Given the description of an element on the screen output the (x, y) to click on. 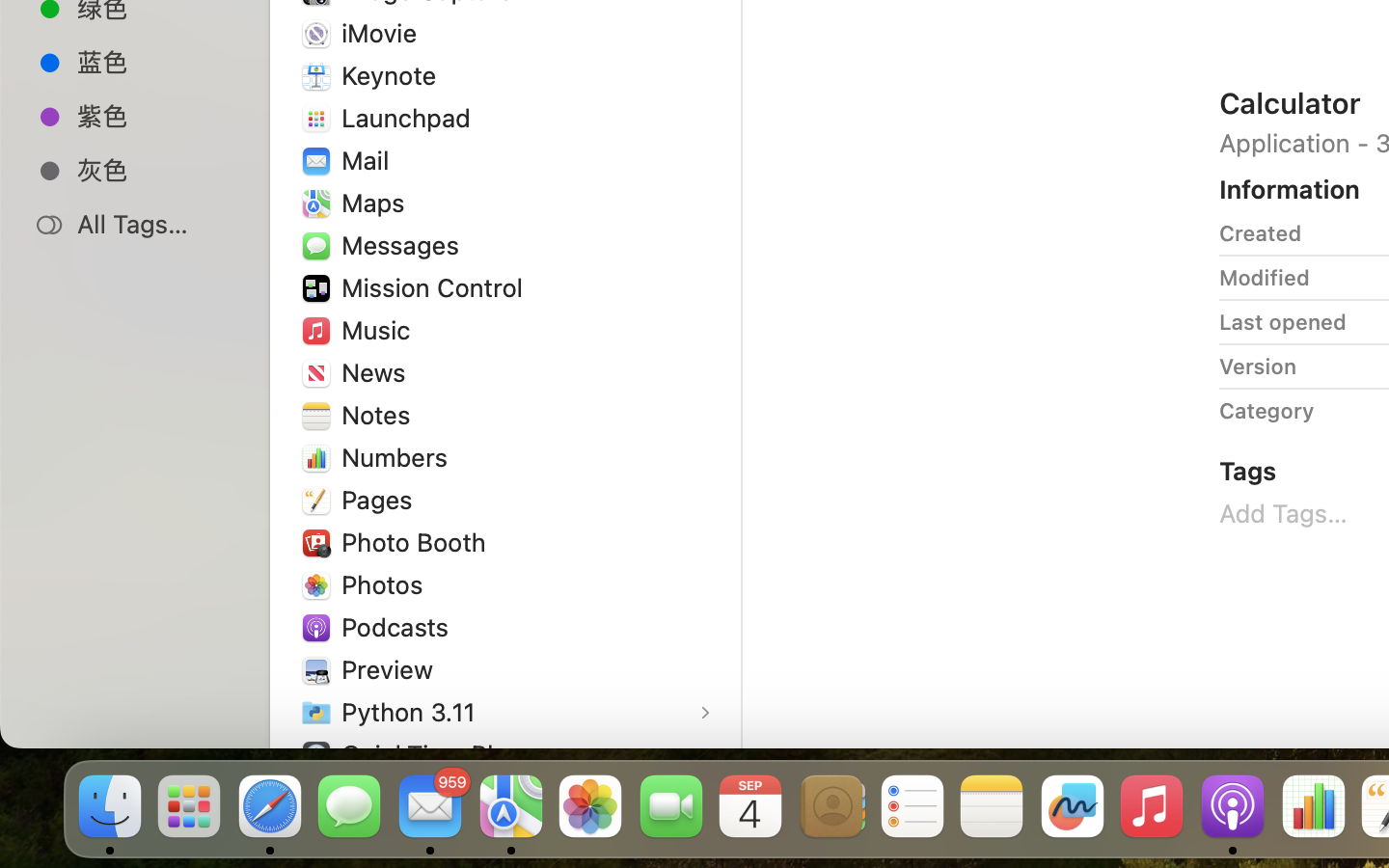
Keynote Element type: AXTextField (393, 74)
Tags Element type: AXStaticText (1247, 470)
QuickTime Player Element type: AXTextField (446, 753)
Numbers Element type: AXTextField (399, 456)
Messages Element type: AXTextField (403, 244)
